Given the description of an element on the screen output the (x, y) to click on. 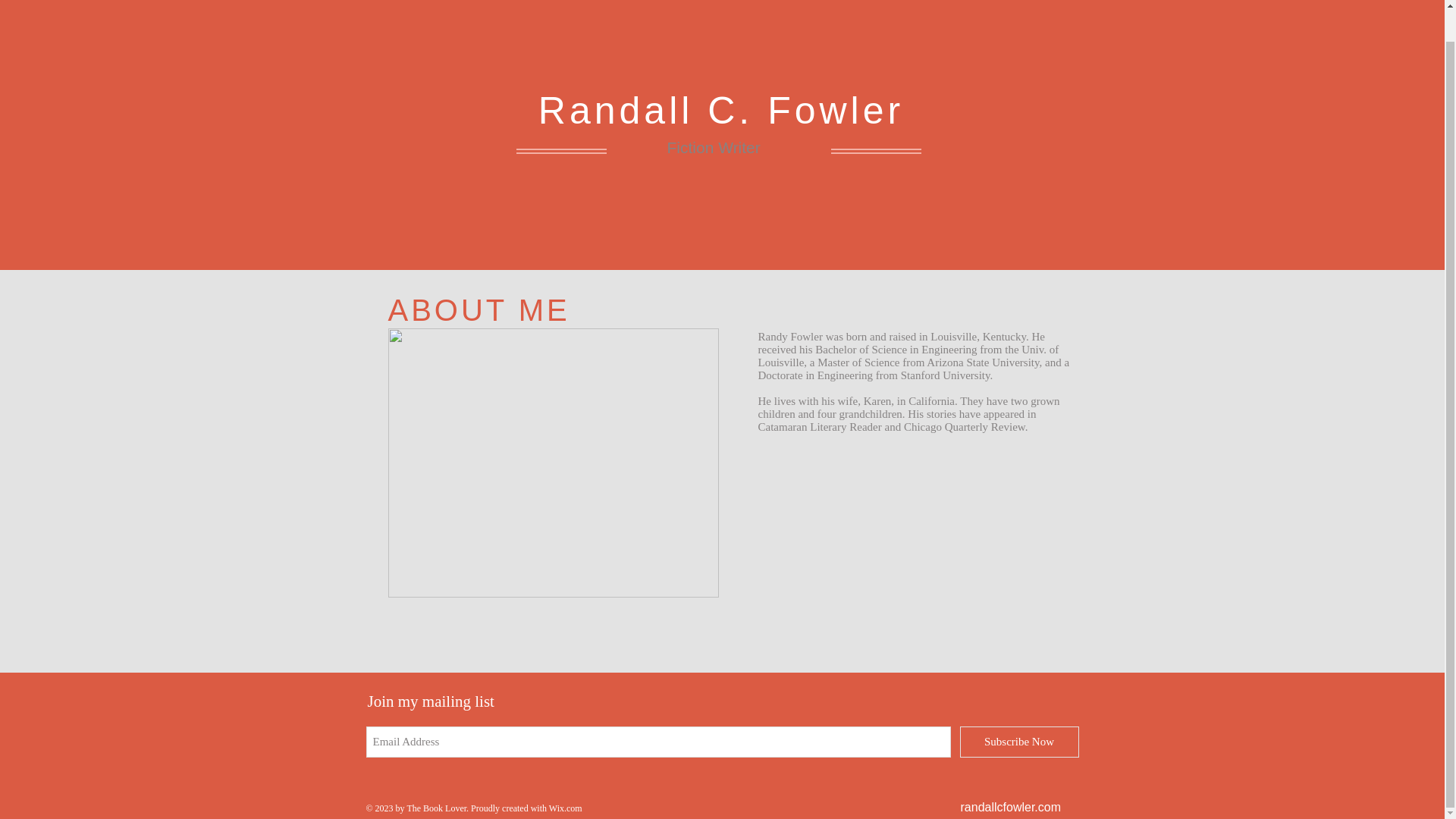
Randall C. Fowler (721, 110)
Wix.com (565, 808)
Subscribe Now (1018, 741)
